Given the description of an element on the screen output the (x, y) to click on. 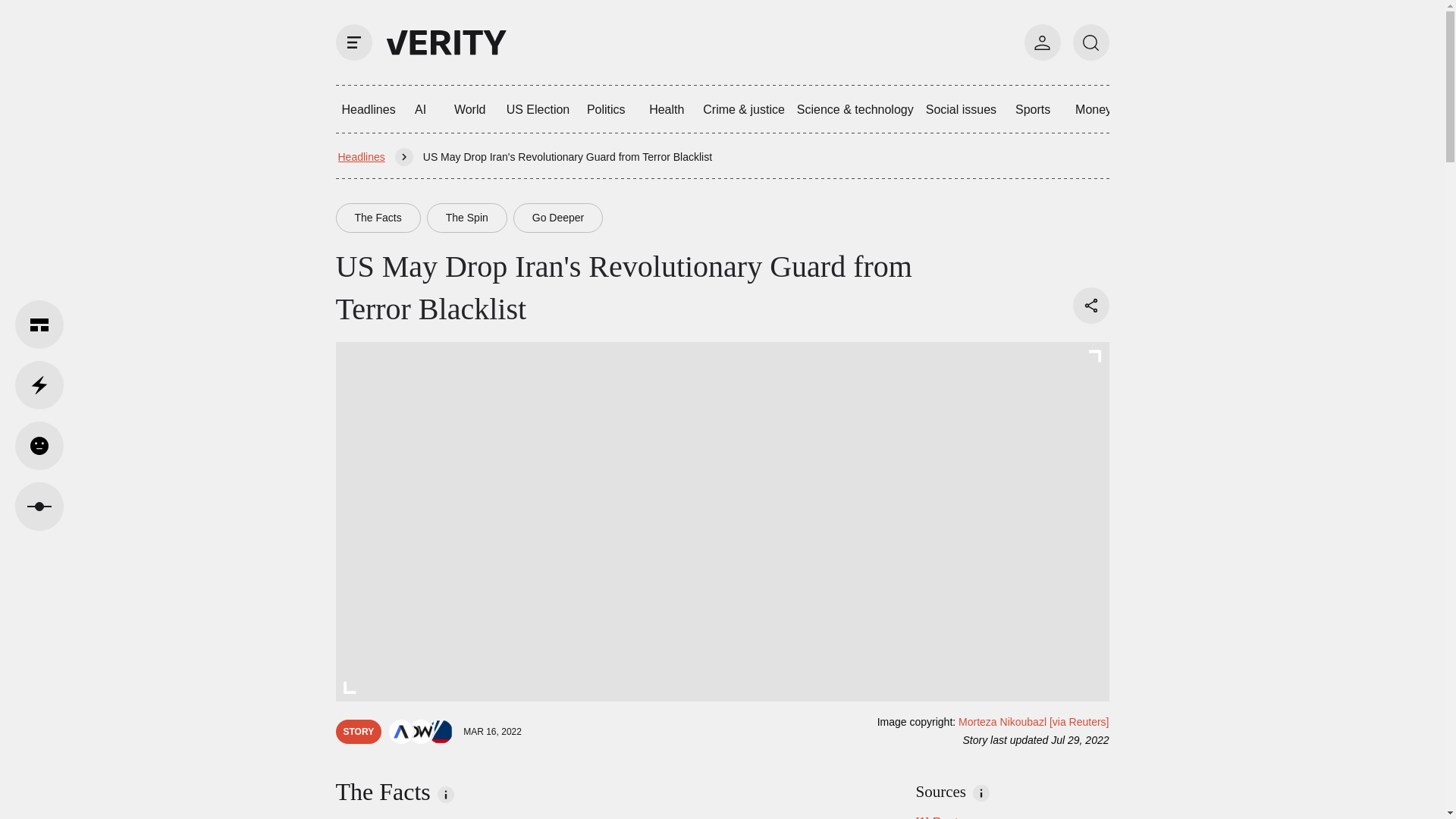
Sports (1032, 109)
Health (666, 109)
Headlines (367, 109)
Sports (1032, 109)
The Spin (466, 217)
Headlines (367, 109)
US Election (538, 109)
Headlines (360, 156)
Health (666, 109)
Politics (605, 109)
